Given the description of an element on the screen output the (x, y) to click on. 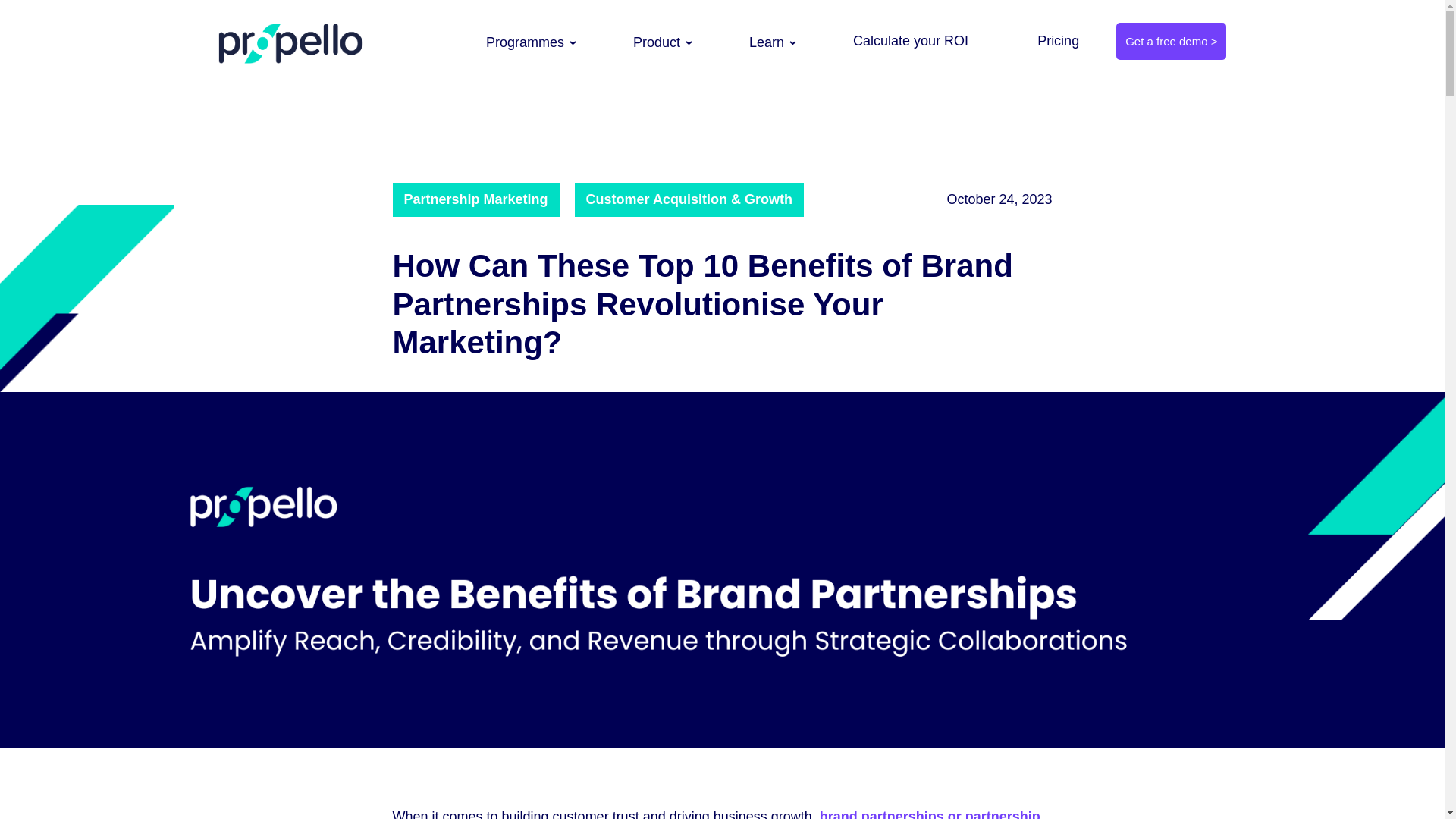
Calculate your ROI (910, 40)
brand partnerships or partnership marketing (717, 814)
Partnership Marketing (476, 199)
Learn (766, 42)
Programmes (524, 42)
Product (656, 42)
Pricing (1058, 40)
